Given the description of an element on the screen output the (x, y) to click on. 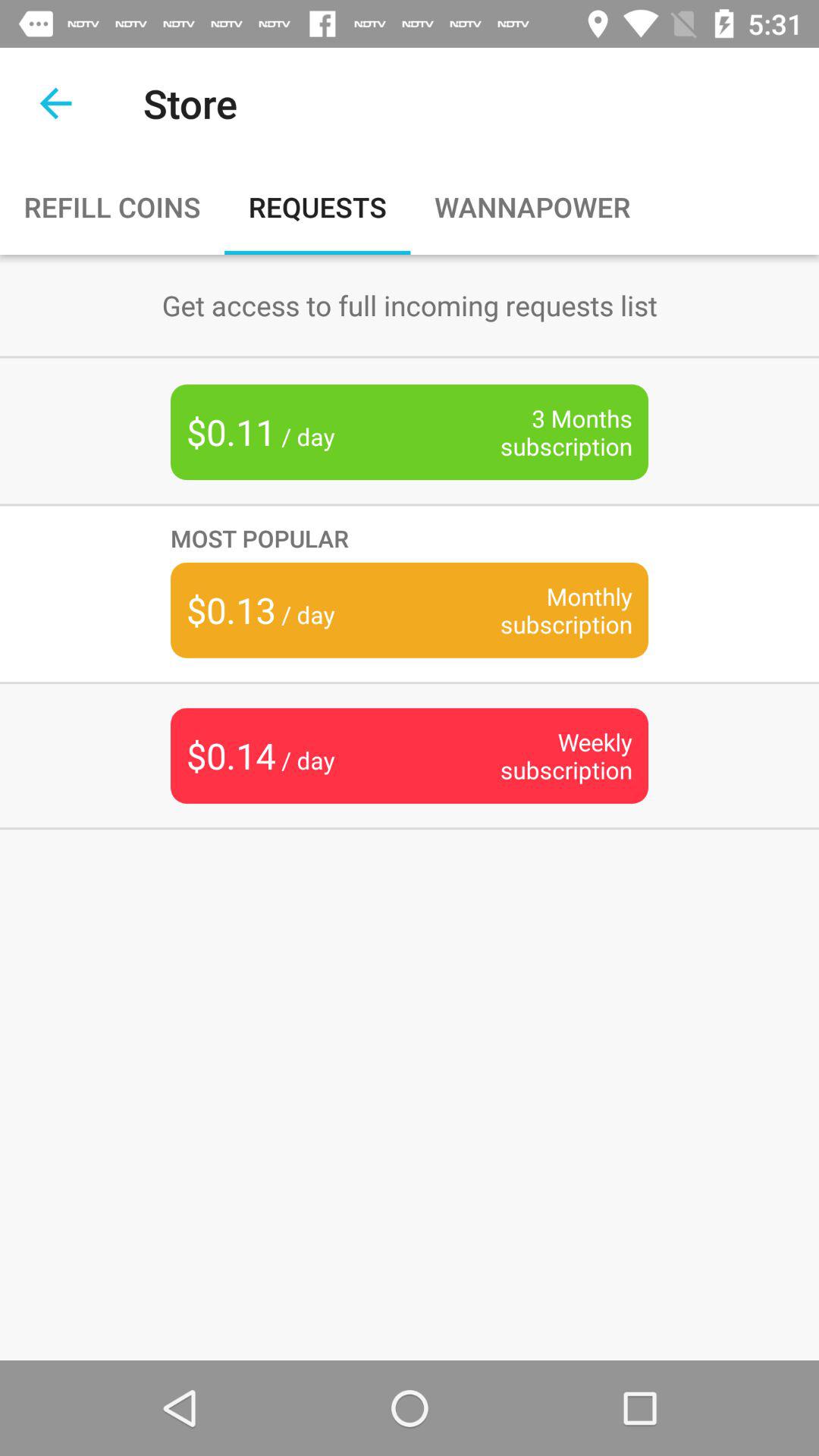
press icon below the most popular icon (543, 610)
